Given the description of an element on the screen output the (x, y) to click on. 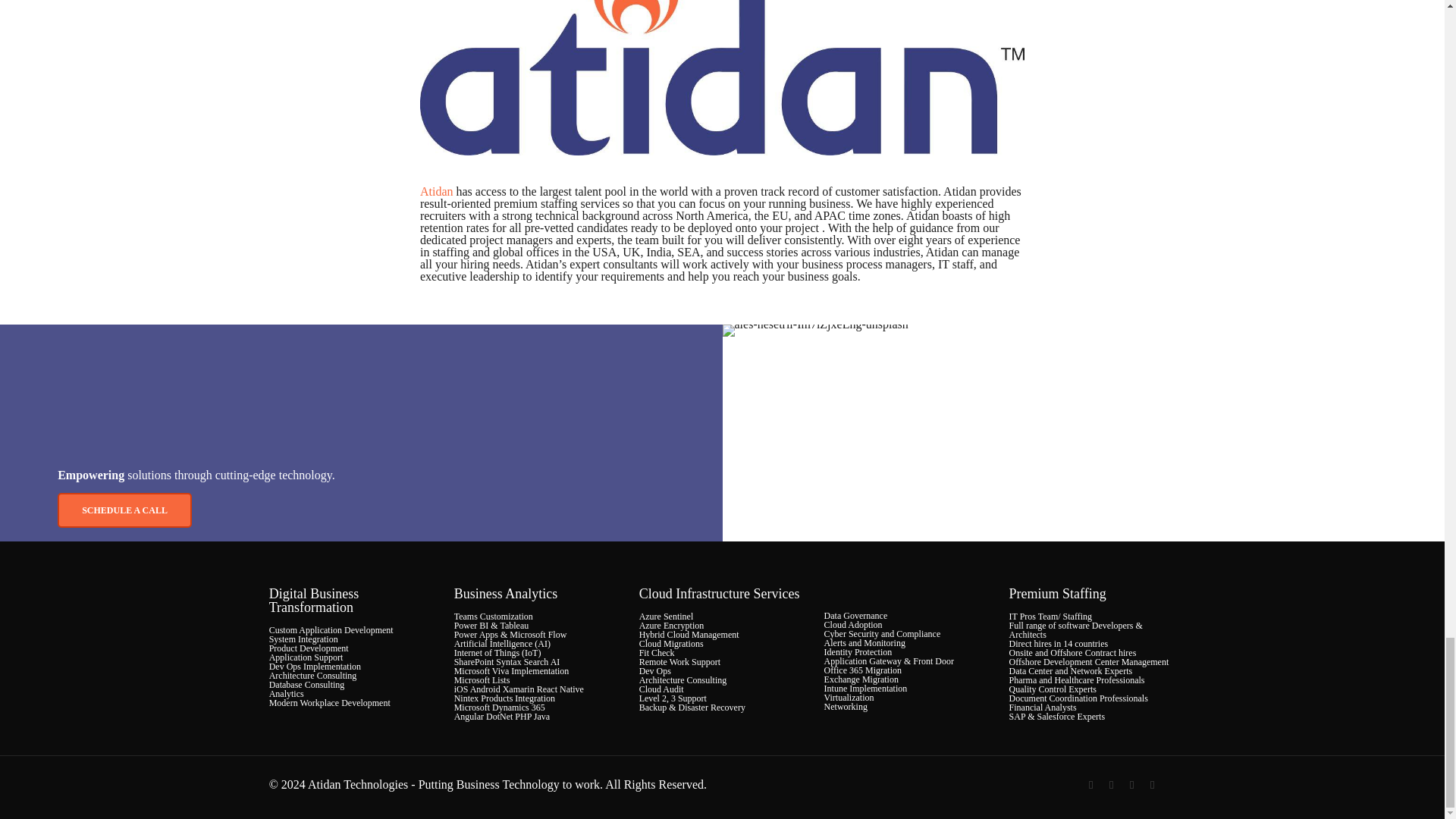
Atidan (436, 191)
Twitter (1111, 784)
YouTube (1132, 784)
SCHEDULE A CALL (125, 510)
Facebook (1091, 784)
LinkedIn (1152, 784)
